Given the description of an element on the screen output the (x, y) to click on. 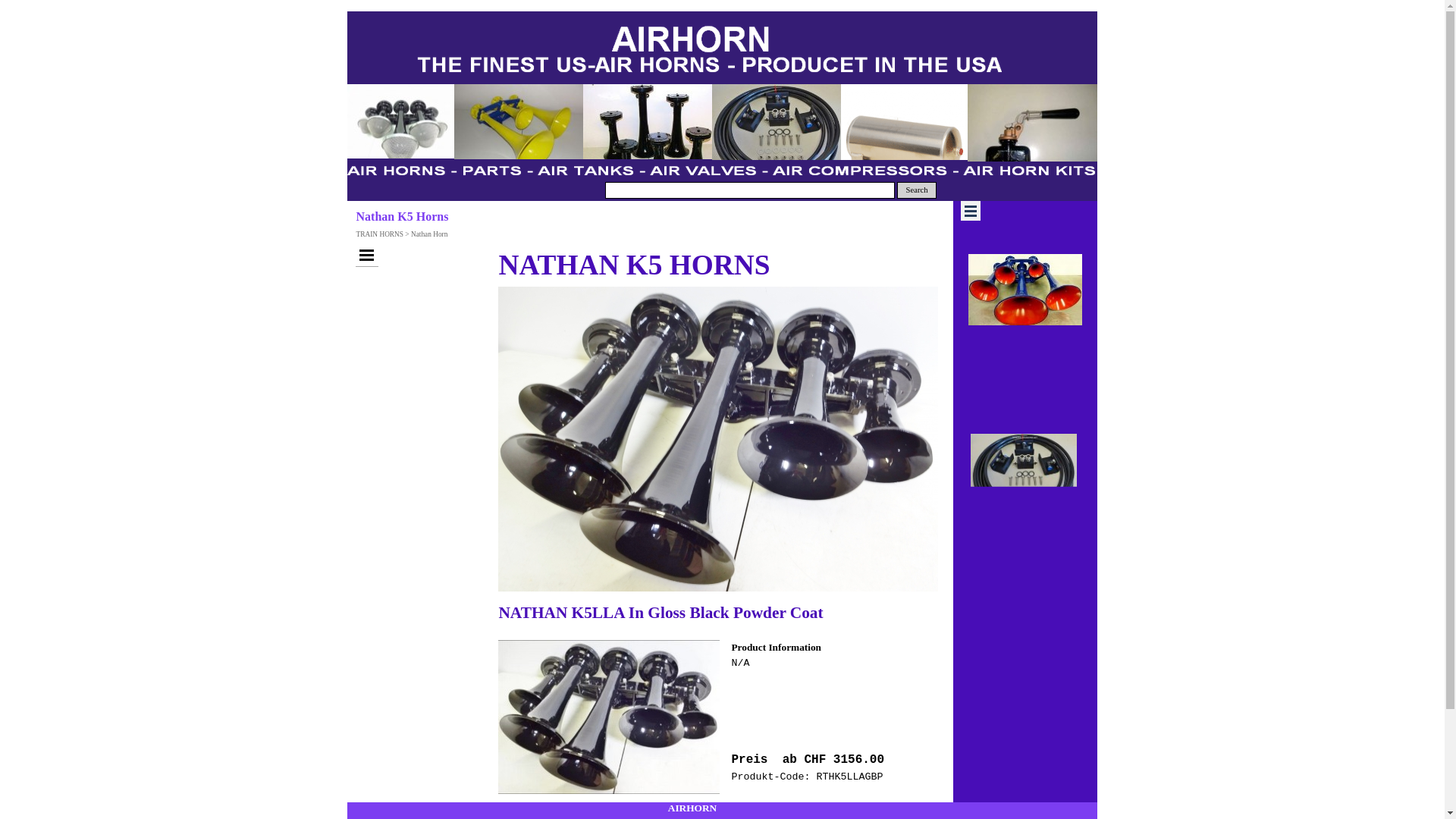
Search Element type: text (916, 190)
